Given the description of an element on the screen output the (x, y) to click on. 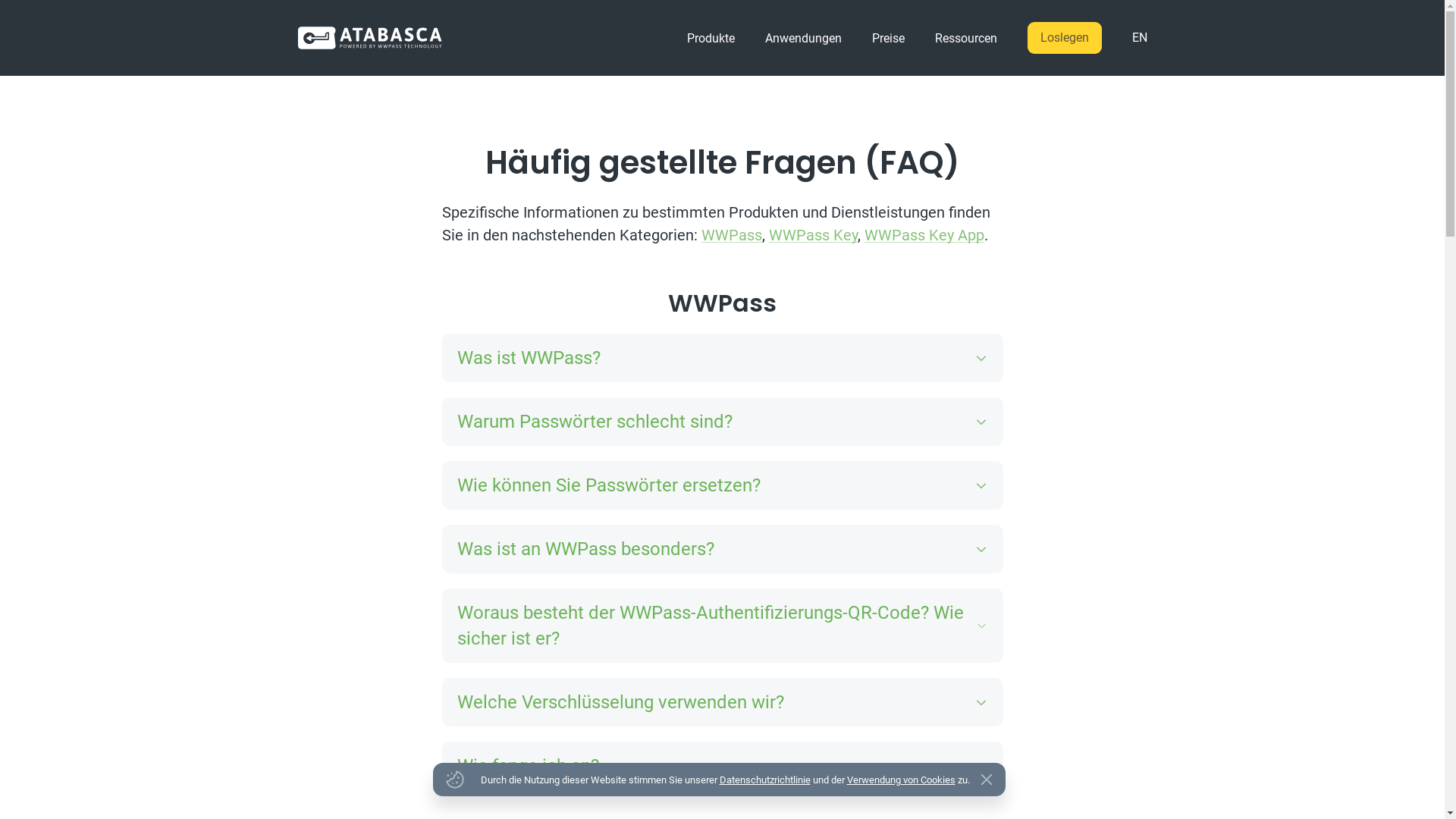
WWPass Key Element type: text (812, 234)
Ressourcen Element type: text (965, 37)
EN Element type: text (1131, 37)
Produkte Element type: text (710, 37)
Anwendungen Element type: text (802, 37)
Preise Element type: text (888, 37)
Verwendung von Cookies Element type: text (900, 778)
WWPass Key App Element type: text (924, 234)
Loslegen Element type: text (1063, 37)
WWPass Element type: text (730, 234)
Datenschutzrichtlinie Element type: text (763, 778)
